Given the description of an element on the screen output the (x, y) to click on. 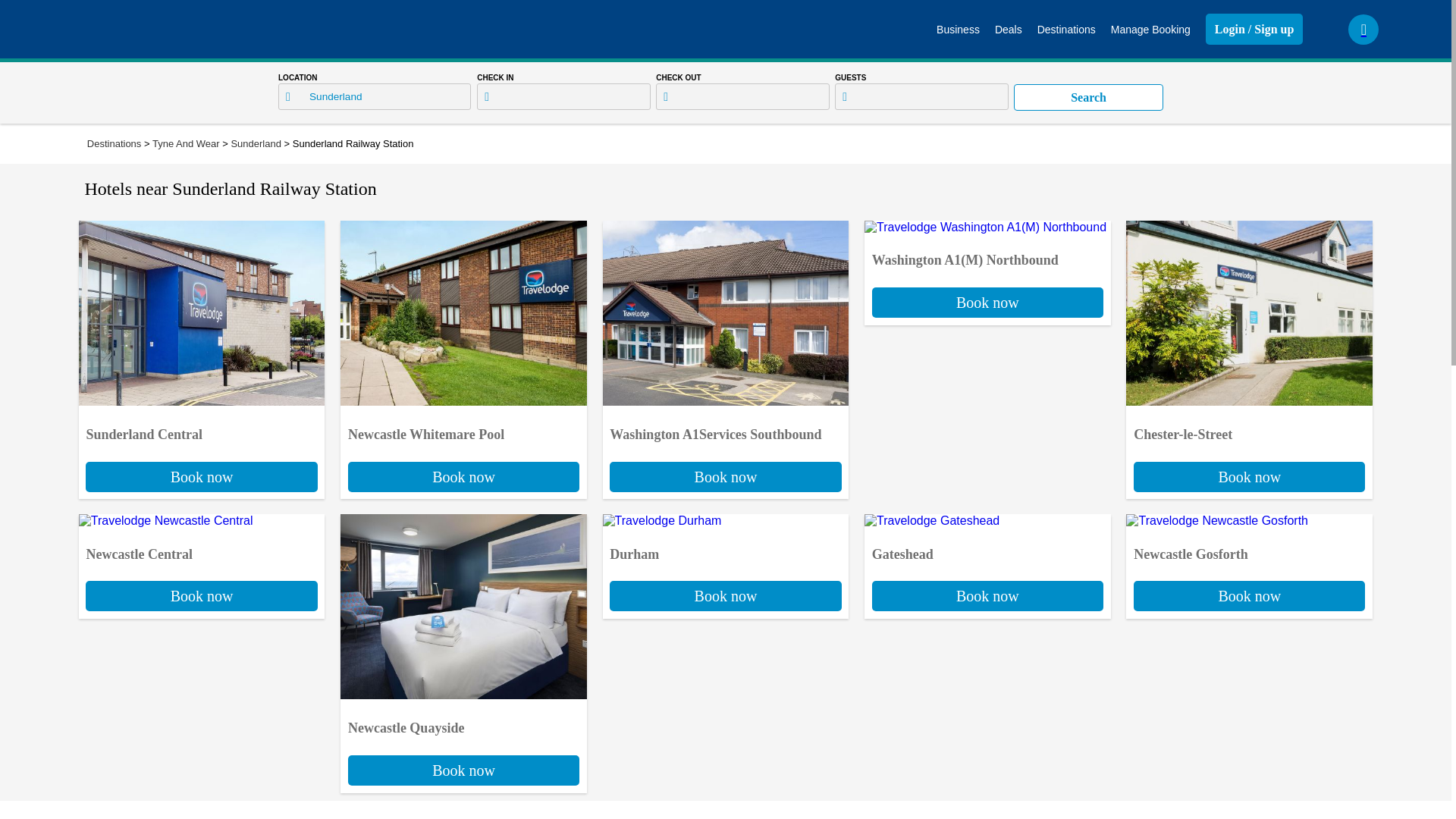
Sunderland (463, 446)
Manage Booking (987, 566)
Business (725, 446)
Destinations (255, 143)
Search (1249, 566)
Destinations (1150, 28)
Deals (201, 446)
